Given the description of an element on the screen output the (x, y) to click on. 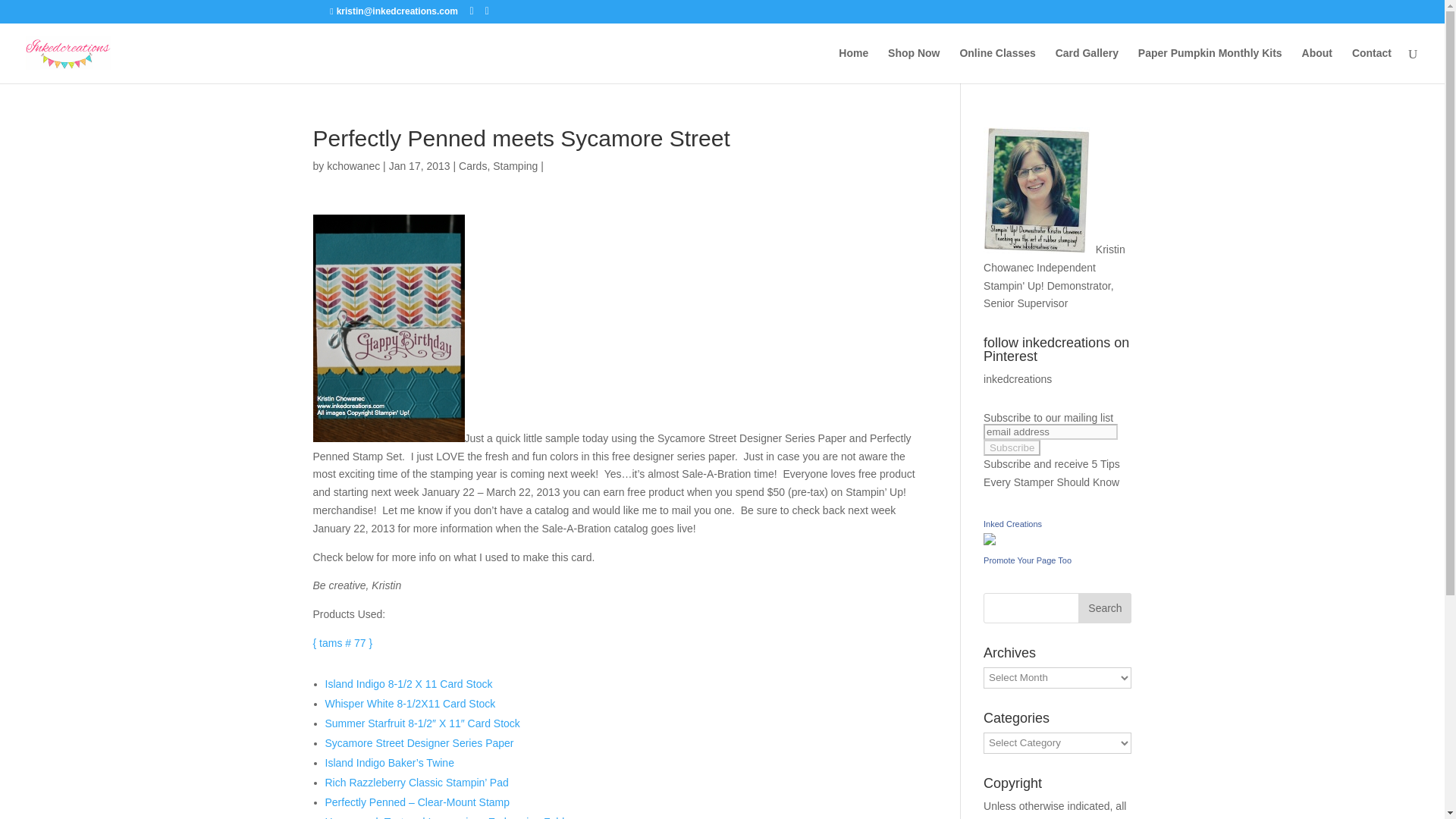
Shop Now (913, 65)
Honeycomb Textured Impressions Embossing Folder (448, 817)
Inked Creations (989, 541)
Posts by kchowanec (353, 165)
Online Classes (997, 65)
Inked Creations (1013, 523)
Search (1104, 607)
Sycamore Street Designer Series Paper (418, 743)
Subscribe (1012, 447)
Cards (472, 165)
Paper Pumpkin Monthly Kits (1210, 65)
Contact (1371, 65)
Subscribe (1012, 447)
Card Gallery (1086, 65)
Stamping (515, 165)
